Given the description of an element on the screen output the (x, y) to click on. 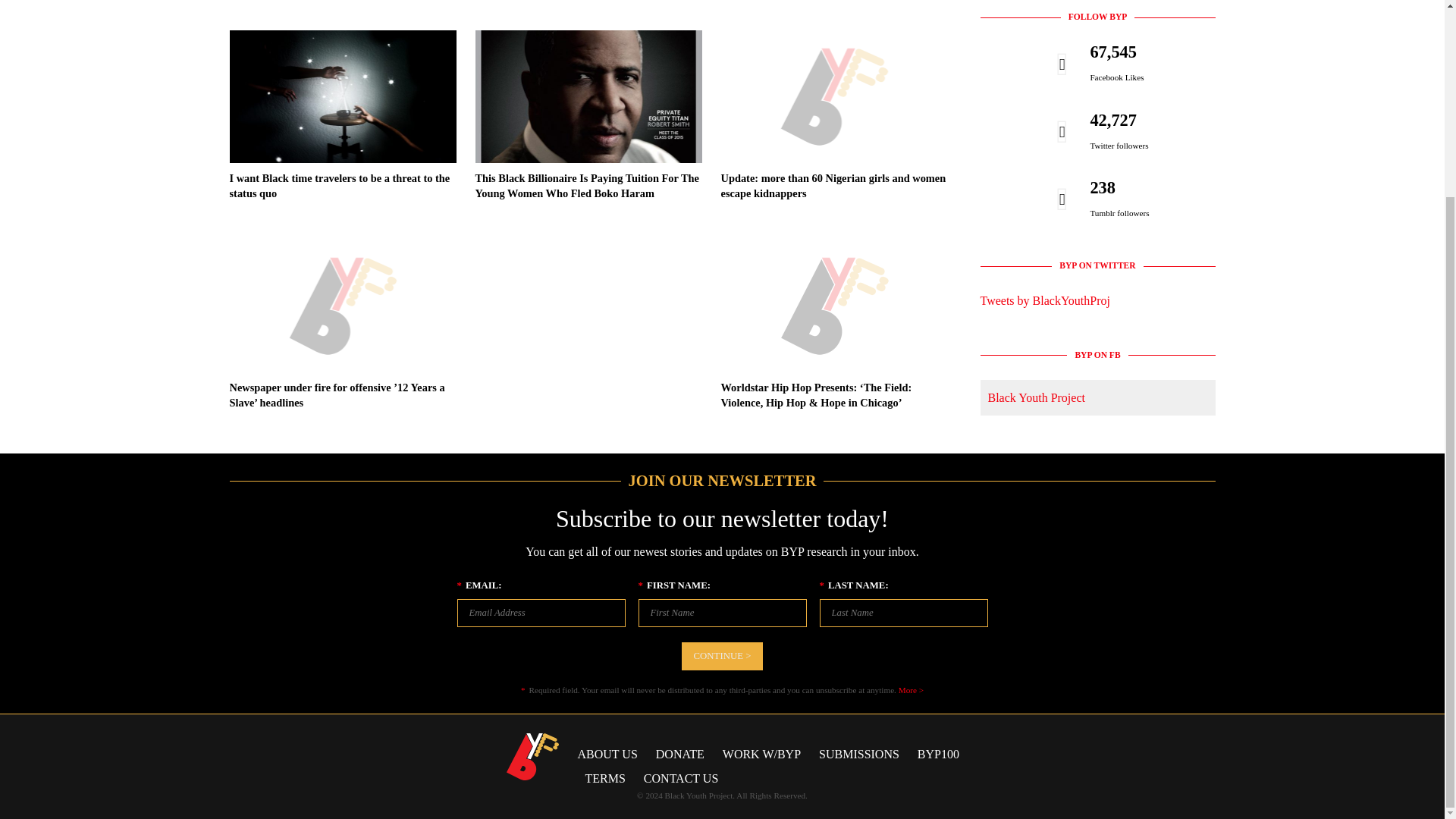
Tweets by BlackYouthProj (1044, 300)
I want Black time travelers to be a threat to the status quo (338, 185)
Black Youth Project (1035, 397)
ABOUT US (611, 754)
